Given the description of an element on the screen output the (x, y) to click on. 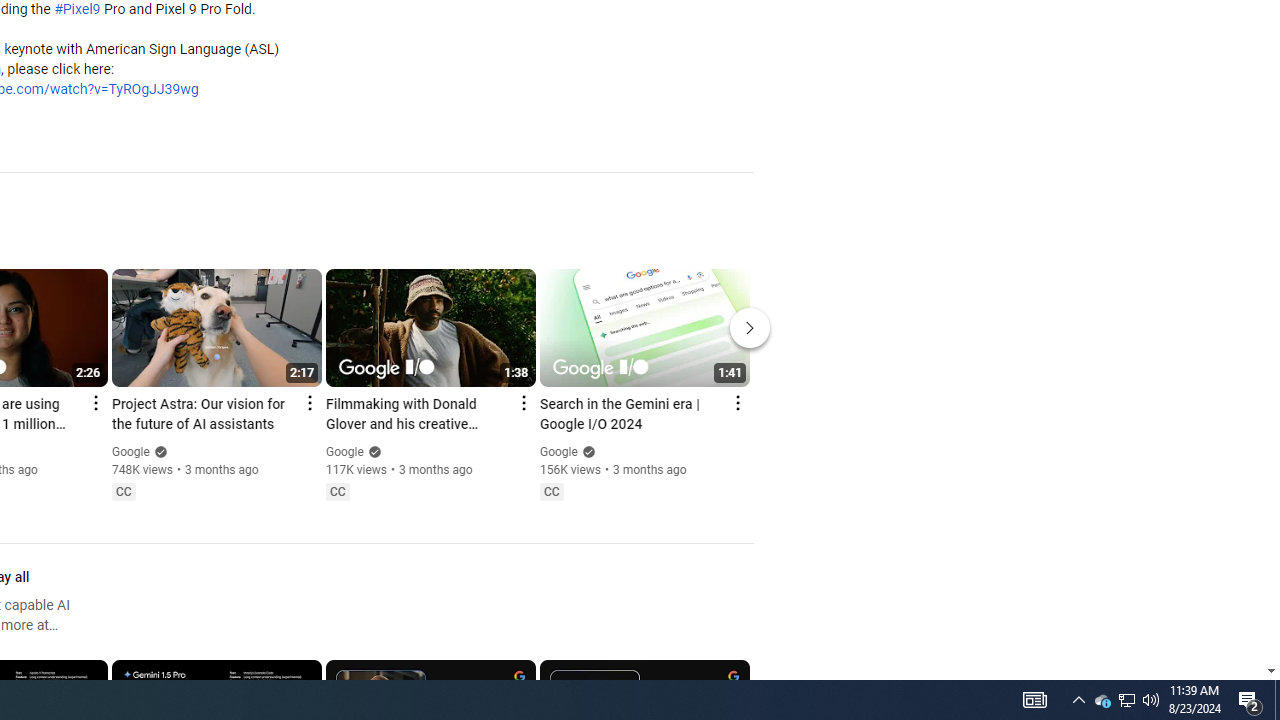
AutomationID: 4105 (1034, 699)
